Given the description of an element on the screen output the (x, y) to click on. 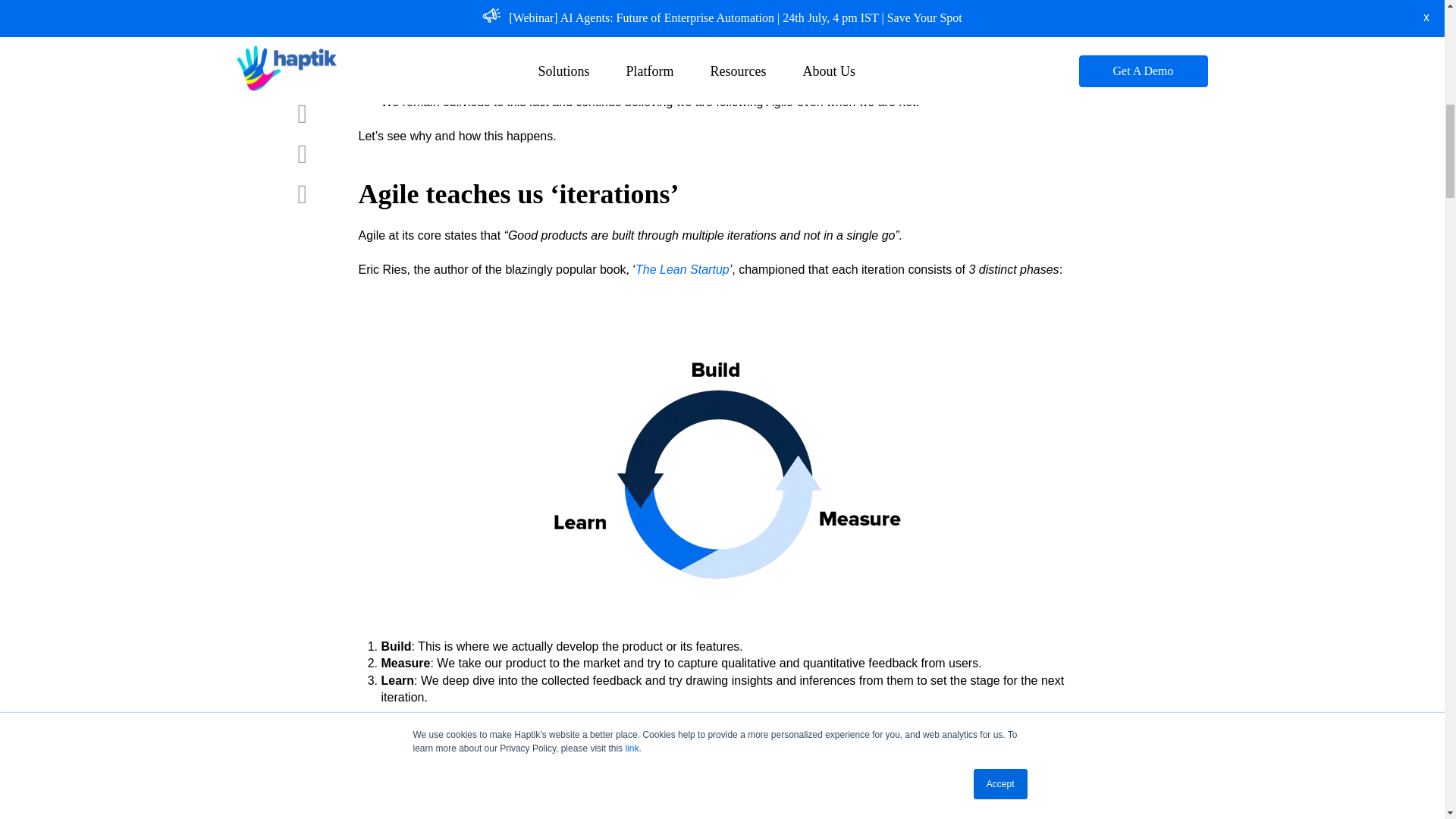
twitter (310, 6)
